Given the description of an element on the screen output the (x, y) to click on. 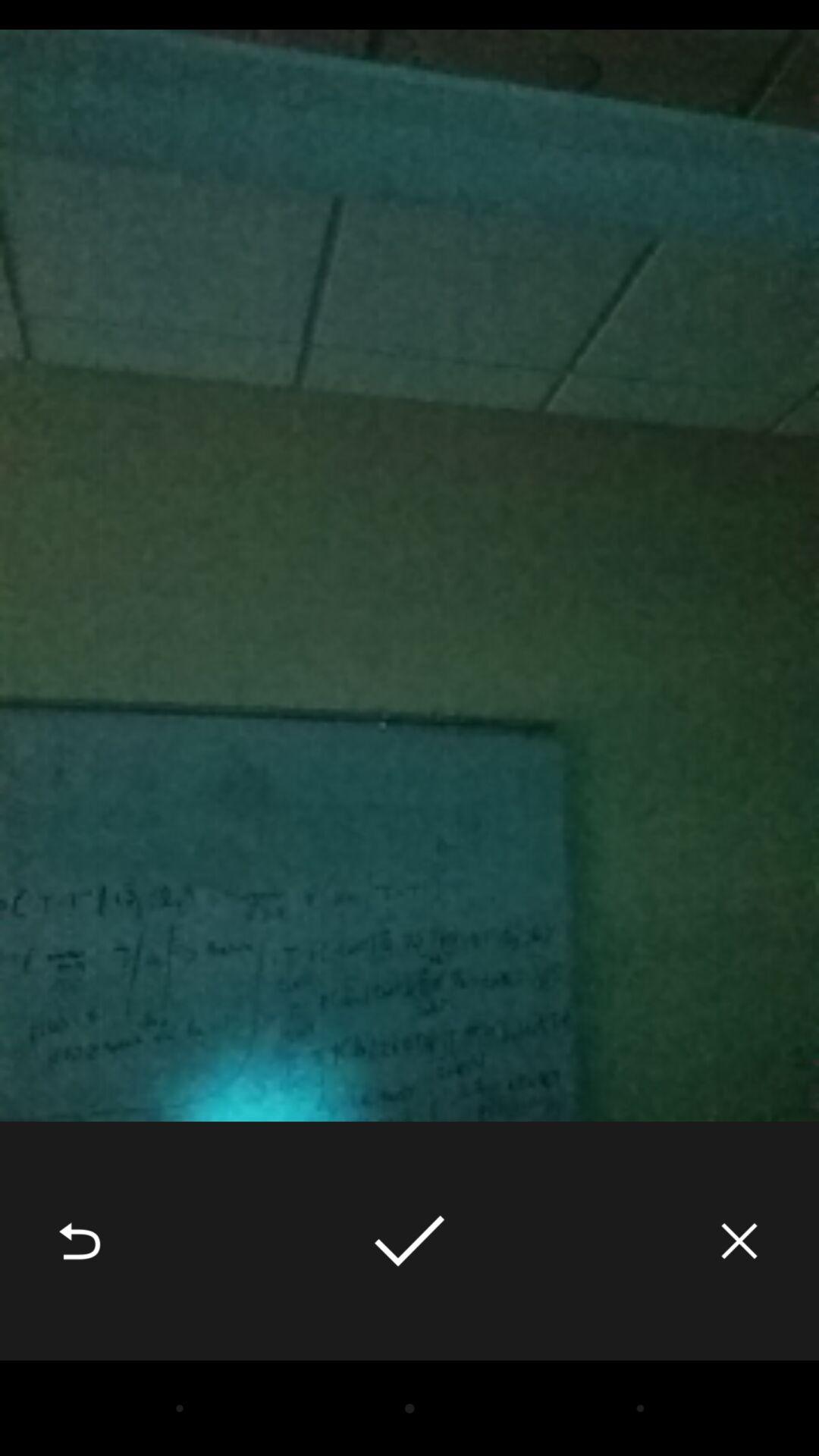
turn off icon at the bottom right corner (739, 1240)
